Given the description of an element on the screen output the (x, y) to click on. 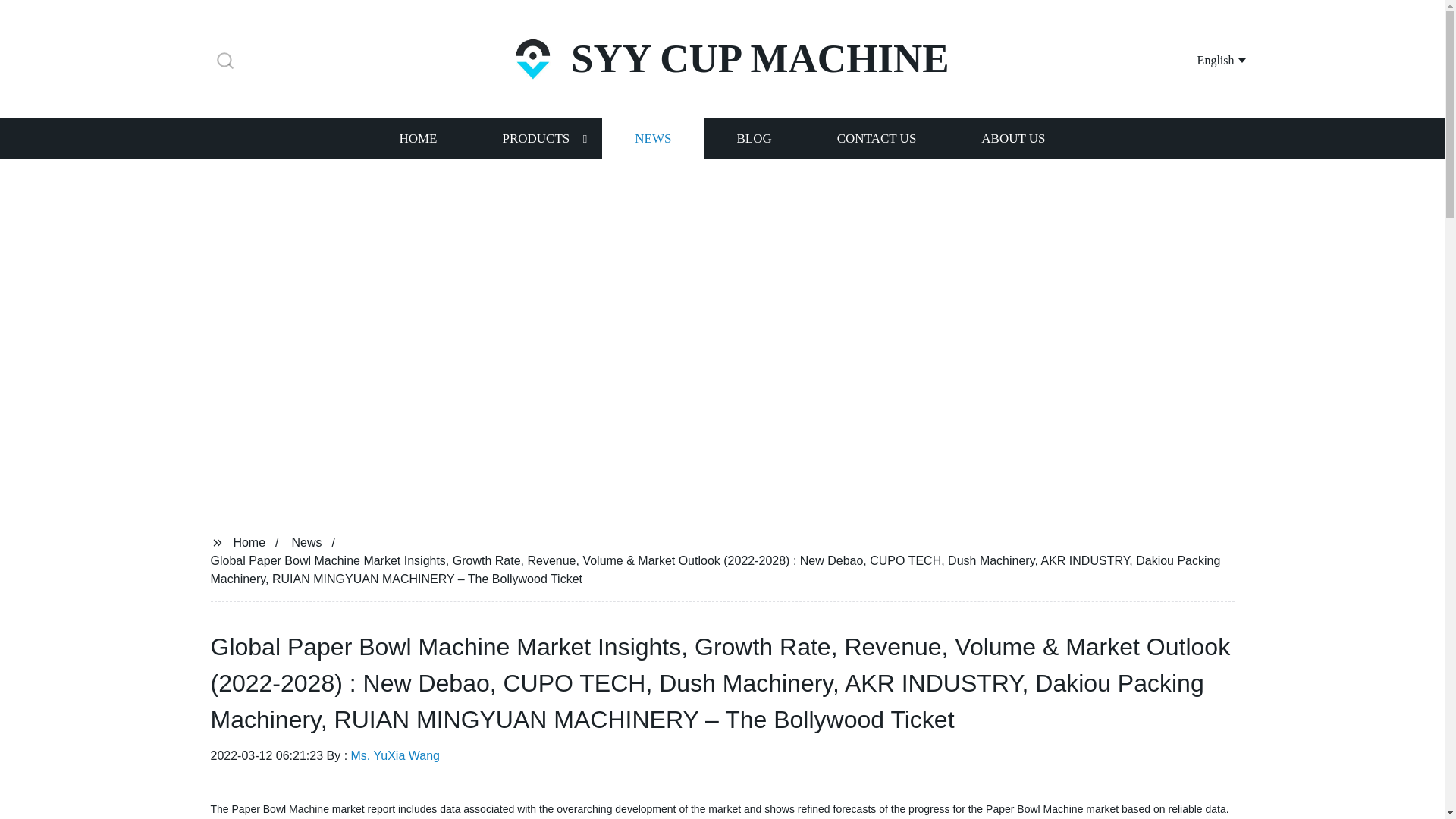
Home (248, 541)
English (1203, 59)
ABOUT US (1013, 137)
CONTACT US (877, 137)
HOME (417, 137)
PRODUCTS (535, 137)
English (1203, 59)
BLOG (753, 137)
NEWS (652, 137)
News (306, 541)
